Given the description of an element on the screen output the (x, y) to click on. 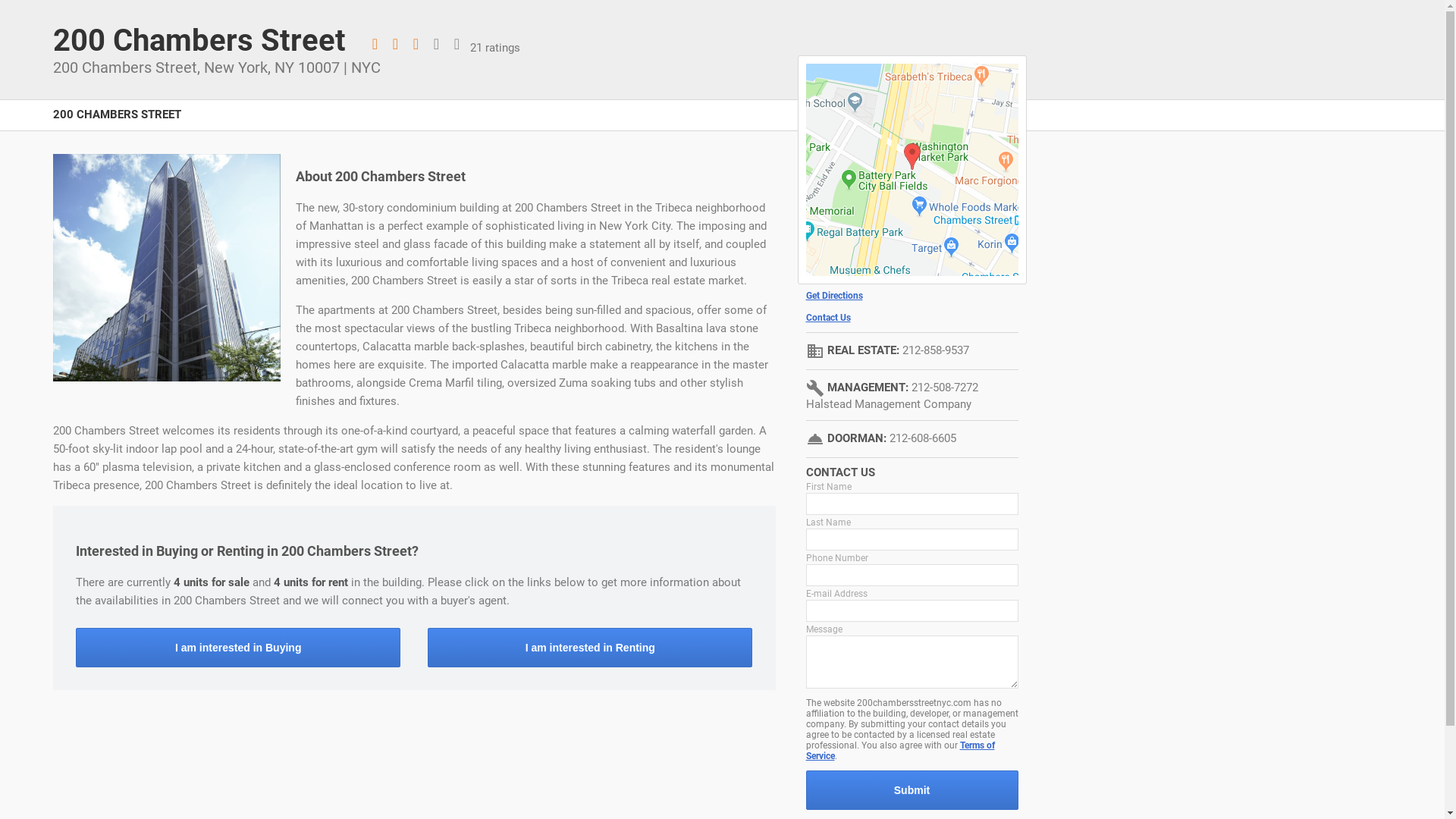
Get Directions Element type: text (911, 295)
Submit Element type: text (911, 789)
I am interested in Renting Element type: text (589, 647)
Terms of Service Element type: text (899, 750)
Contact Us Element type: text (911, 317)
I am interested in Buying Element type: text (237, 647)
200 CHAMBERS STREET Element type: text (117, 122)
